Given the description of an element on the screen output the (x, y) to click on. 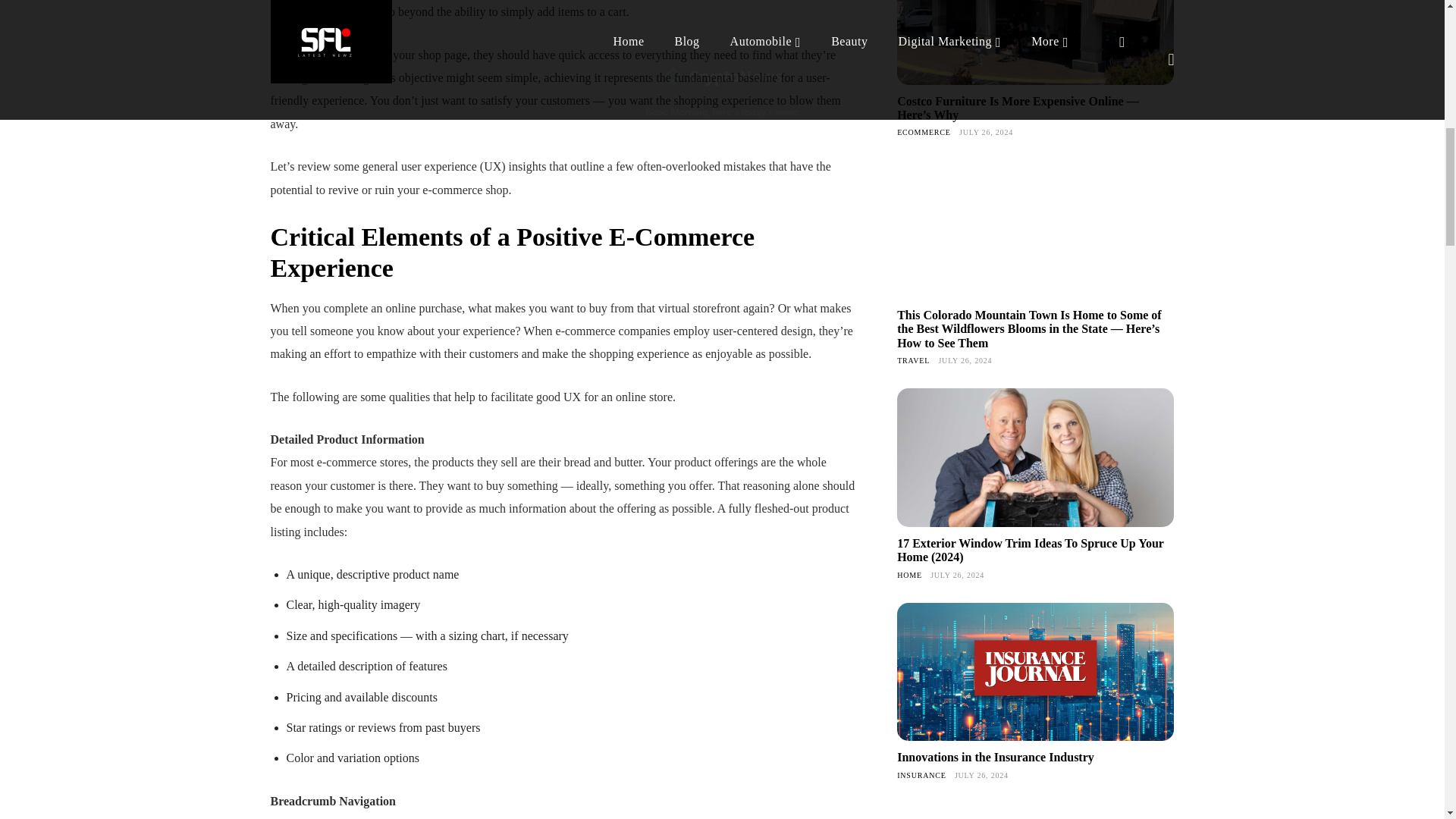
Innovations in the Insurance Industry (1034, 672)
